Given the description of an element on the screen output the (x, y) to click on. 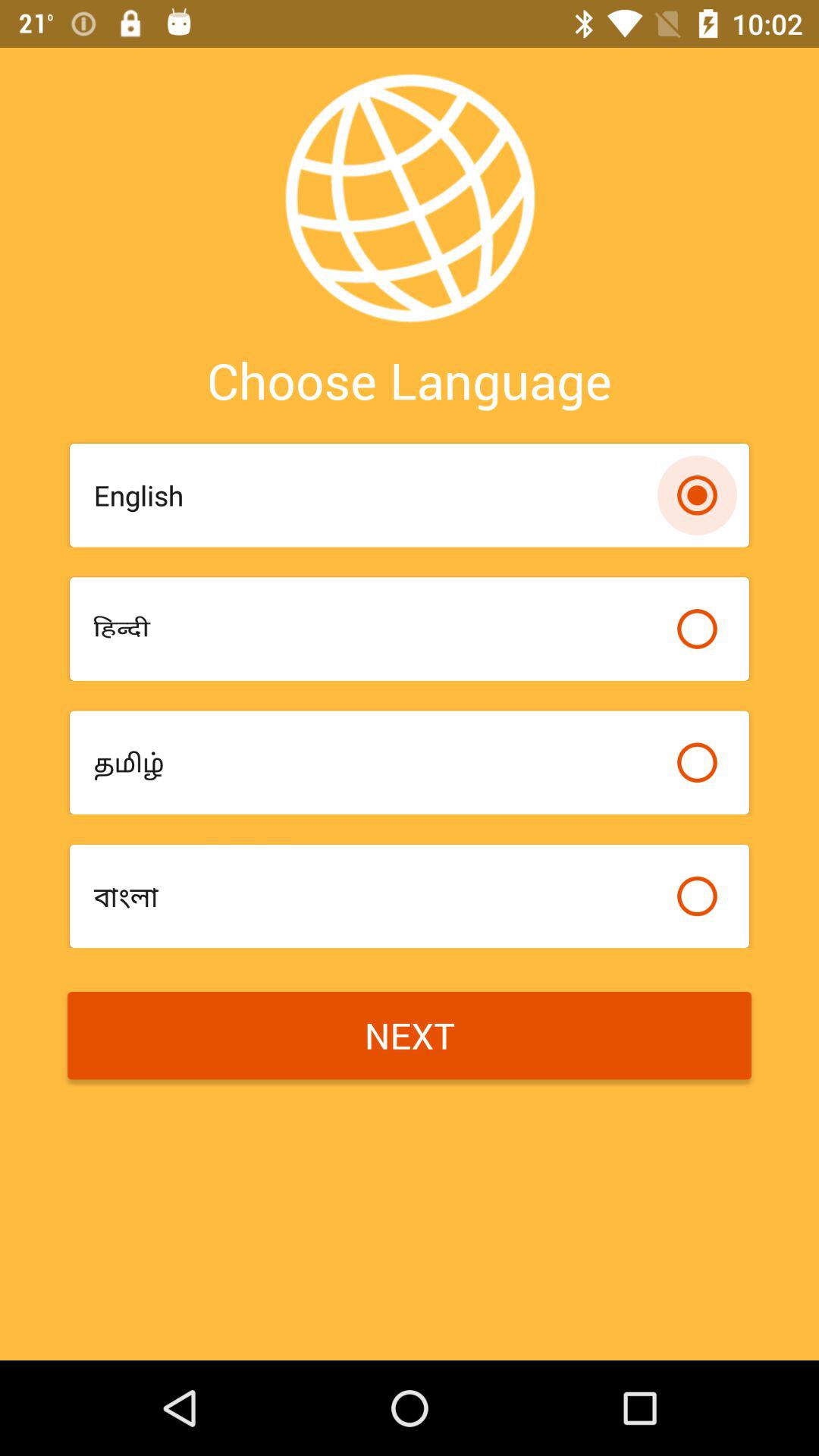
button to select language (697, 628)
